Given the description of an element on the screen output the (x, y) to click on. 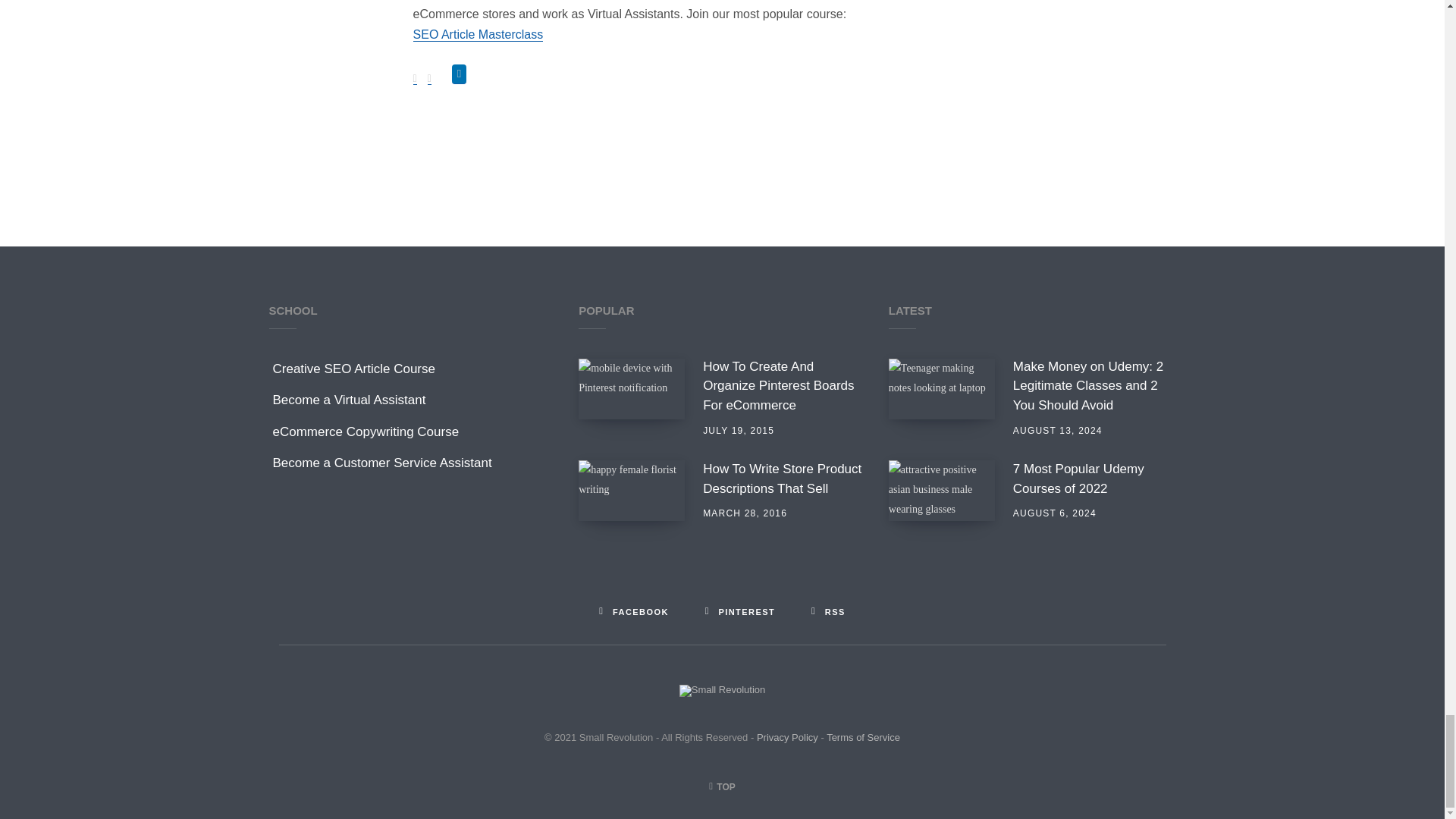
How To Write Store Product Descriptions That Sell (784, 478)
How To Create And Organize Pinterest Boards For eCommerce (784, 386)
How To Create And Organize Pinterest Boards For eCommerce (631, 388)
7 Most Popular Udemy Courses of 2022 (1094, 478)
7 Most Popular Udemy Courses of 2022 (941, 490)
How To Write Store Product Descriptions That Sell (631, 490)
